Given the description of an element on the screen output the (x, y) to click on. 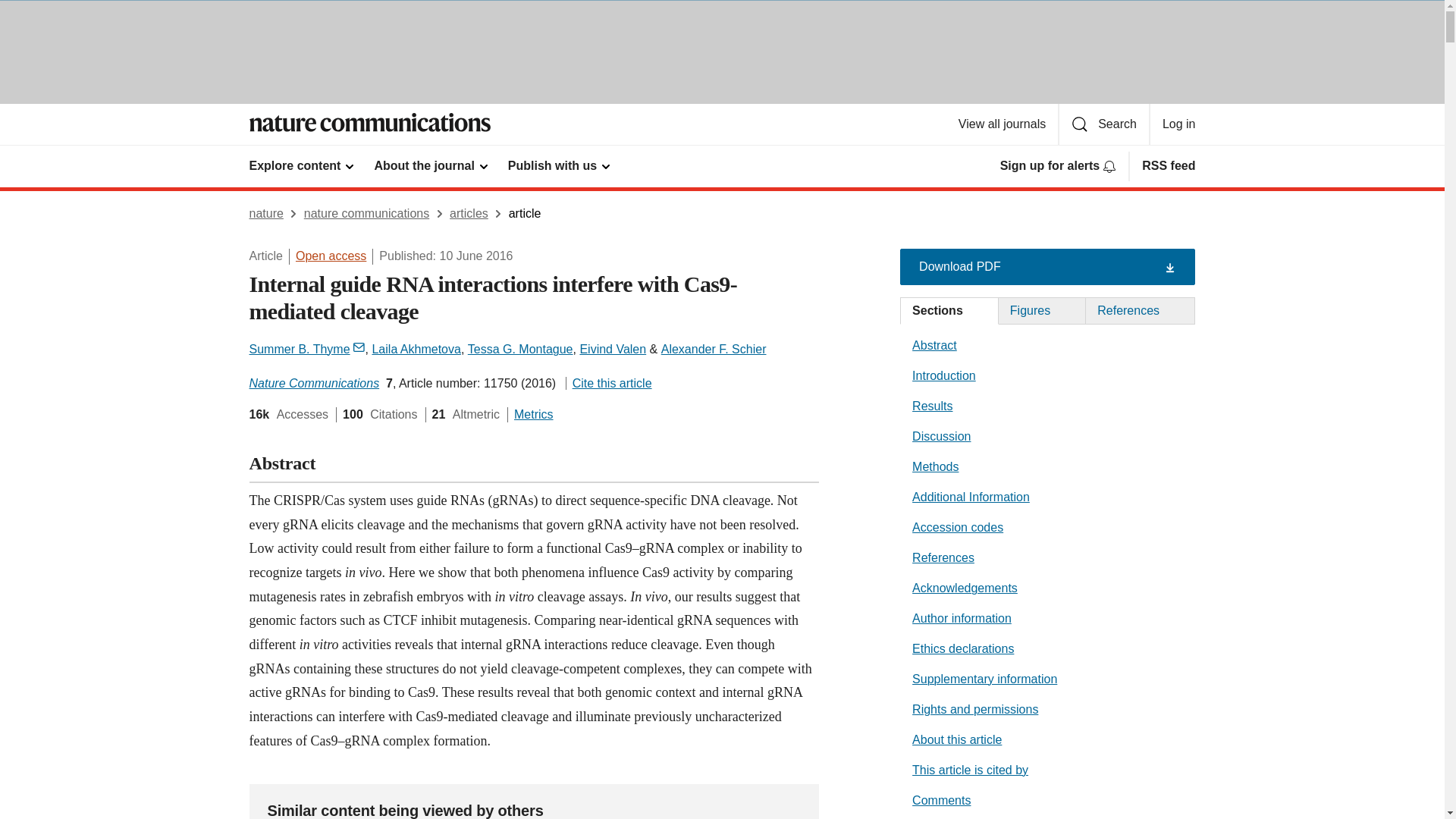
nature (265, 213)
Search (1103, 123)
nature communications (366, 213)
Tessa G. Montague (520, 349)
Sign up for alerts (1058, 165)
Open access (330, 255)
Publish with us (559, 165)
Eivind Valen (612, 349)
Cite this article (609, 382)
Laila Akhmetova (415, 349)
